Given the description of an element on the screen output the (x, y) to click on. 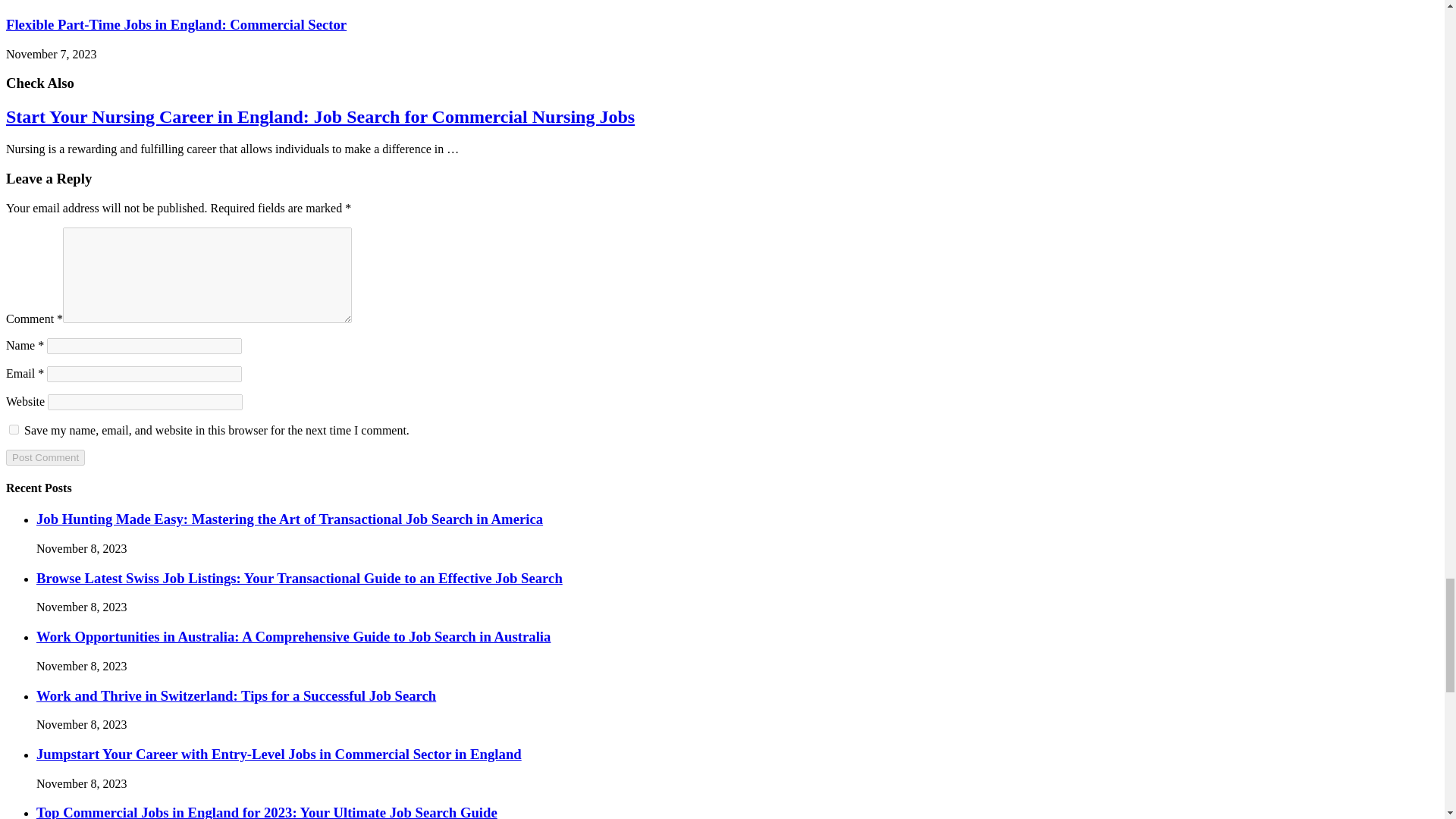
yes (13, 429)
Post Comment (44, 457)
Flexible Part-Time Jobs in England: Commercial Sector (175, 24)
